Given the description of an element on the screen output the (x, y) to click on. 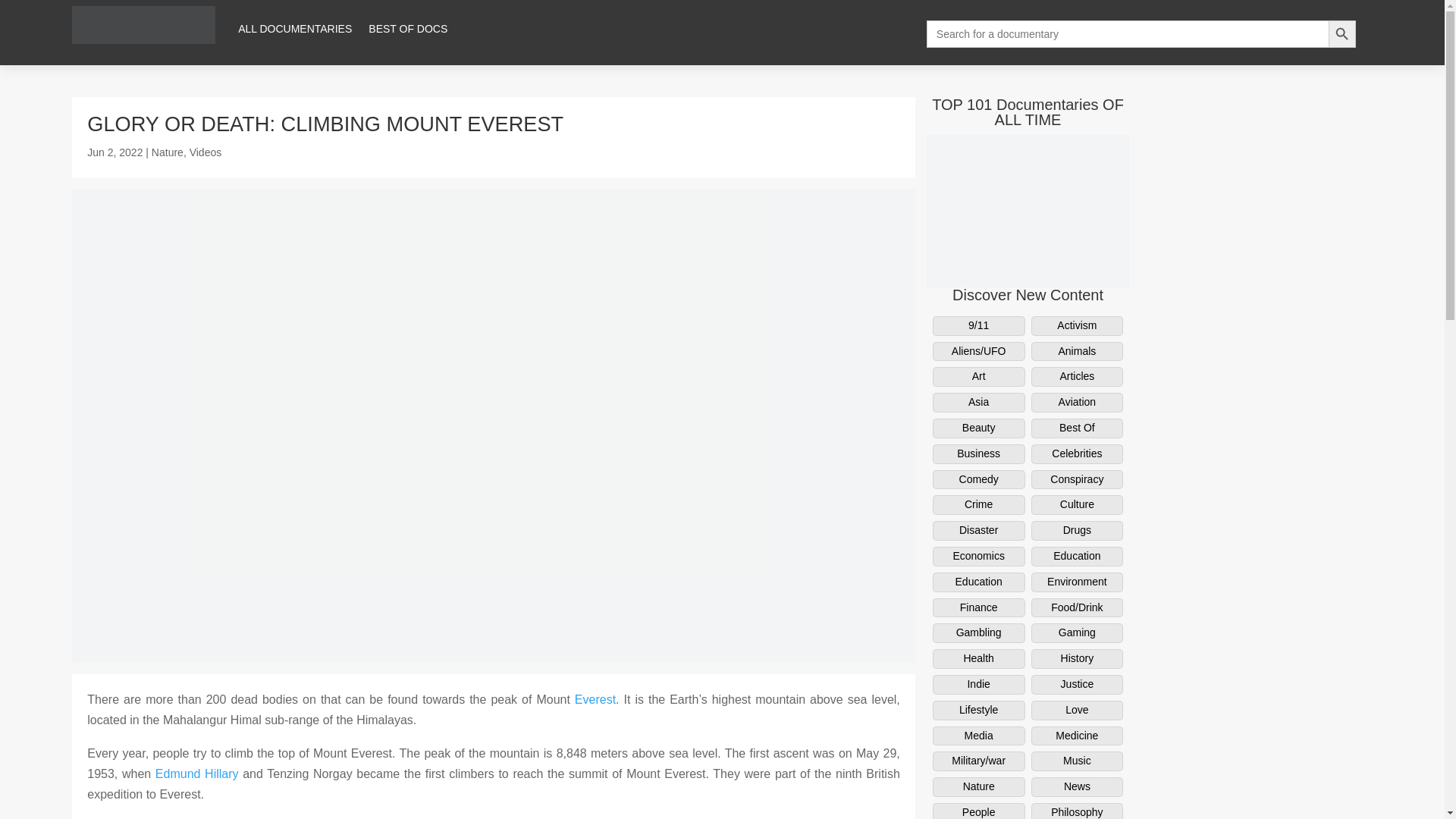
Celebrities (1077, 454)
TOP 101 Documentaries OF ALL TIME (1027, 111)
Conspiracy (1077, 479)
Culture (1077, 505)
Search Button (1341, 33)
Business (979, 454)
Economics (979, 556)
Aviation (1077, 402)
Disaster (979, 530)
Beauty (979, 428)
